Given the description of an element on the screen output the (x, y) to click on. 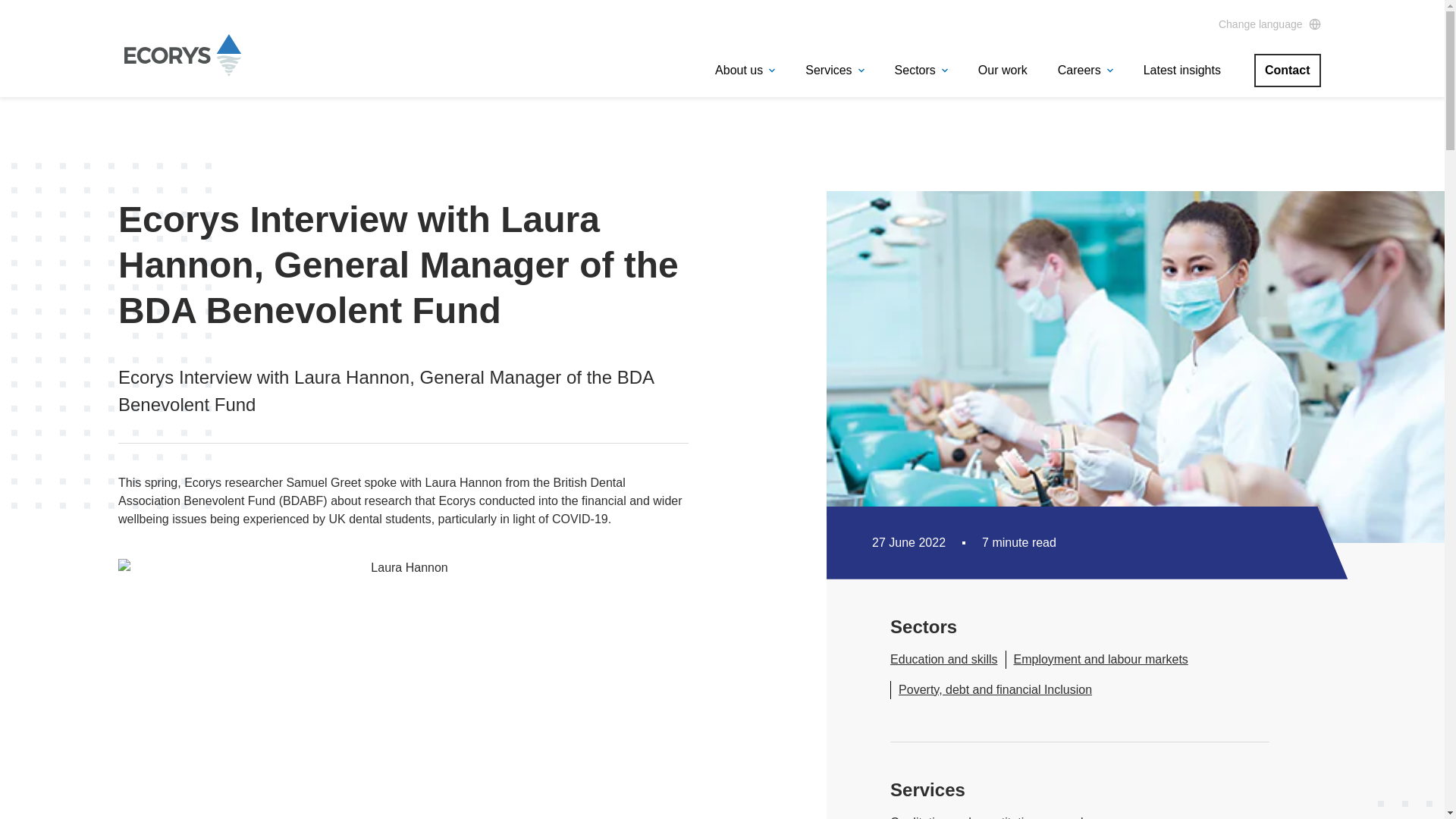
Ecorys (182, 54)
Services (834, 69)
Change language (1269, 24)
Ecorys (182, 71)
Sectors (920, 69)
About us (745, 69)
